Given the description of an element on the screen output the (x, y) to click on. 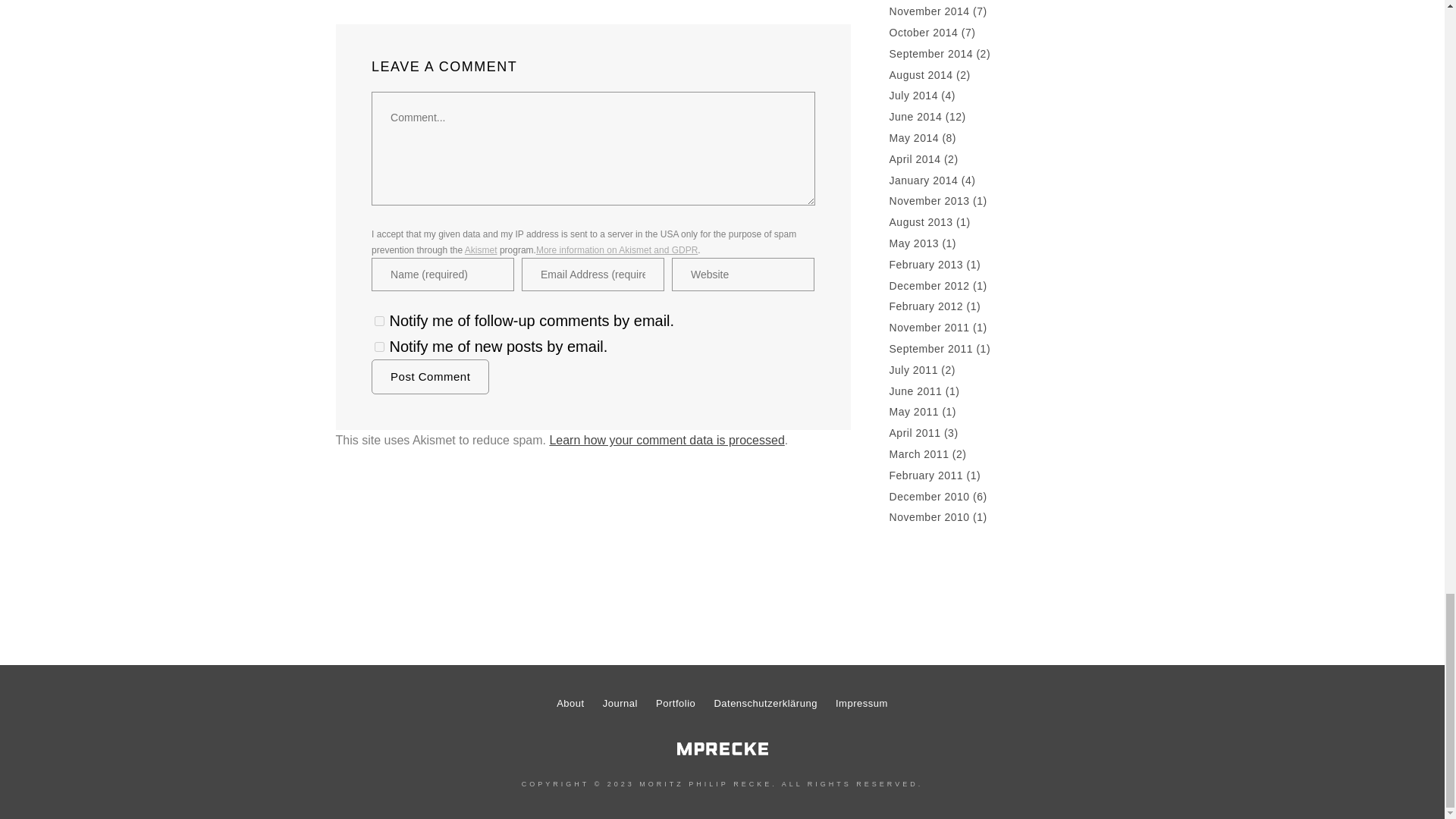
Akismet (480, 249)
Post Comment (430, 376)
subscribe (379, 347)
subscribe (379, 320)
